Given the description of an element on the screen output the (x, y) to click on. 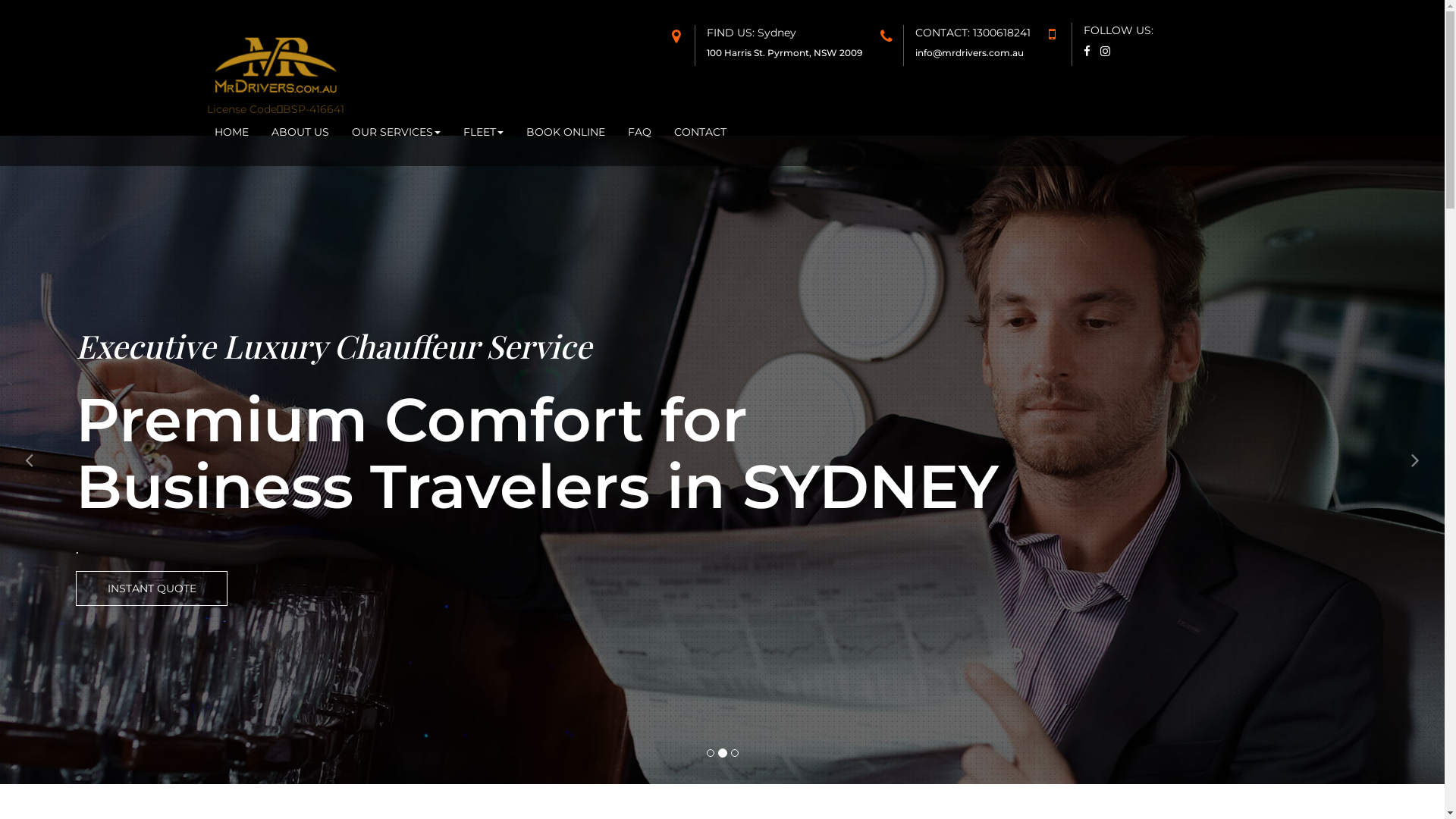
FAQ Element type: text (638, 131)
OUR SERVICES Element type: text (395, 131)
BOOK ONLINE Element type: text (564, 131)
INSTANT QUOTE Element type: text (151, 588)
CONTACT Element type: text (699, 131)
Instagram Element type: hover (1108, 50)
Previous Element type: text (28, 459)
FLEET Element type: text (482, 131)
HOME Element type: text (231, 131)
ABOUT US Element type: text (299, 131)
Facebook Element type: hover (1090, 50)
Next Element type: text (1415, 459)
